Given the description of an element on the screen output the (x, y) to click on. 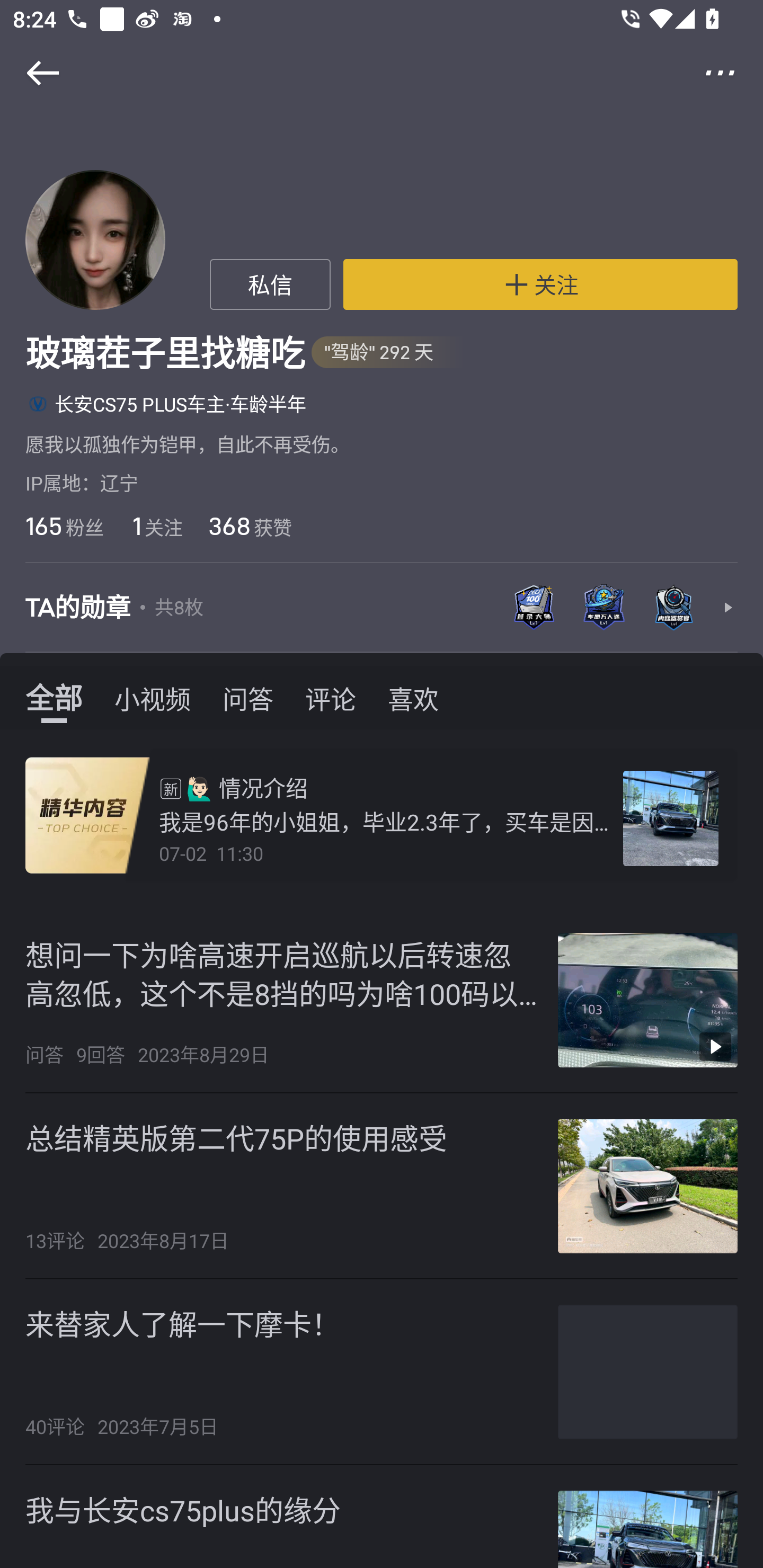
 (30, 72)
 (732, 72)
私信 (269, 284)
 关注 (540, 284)
"驾龄" 292 天 (388, 352)
165 粉丝 (64, 526)
1 关注 (155, 526)
368 获赞 (250, 526)
TA的勋章 共8枚  (381, 607)
全部 (53, 697)
小视频 (152, 697)
问答 (247, 697)
评论 (330, 697)
喜欢 (412, 697)
总结精英版第二代75P的使用感受 13评论 2023年8月17日 (381, 1185)
总结精英版第二代75P的使用感受 (236, 1138)
来替家人了解一下摩卡！ 40评论 2023年7月5日 (381, 1371)
来替家人了解一下摩卡！ (182, 1323)
我与长安cs75plus的缘分 (381, 1516)
我与长安cs75plus的缘分 (183, 1509)
